Given the description of an element on the screen output the (x, y) to click on. 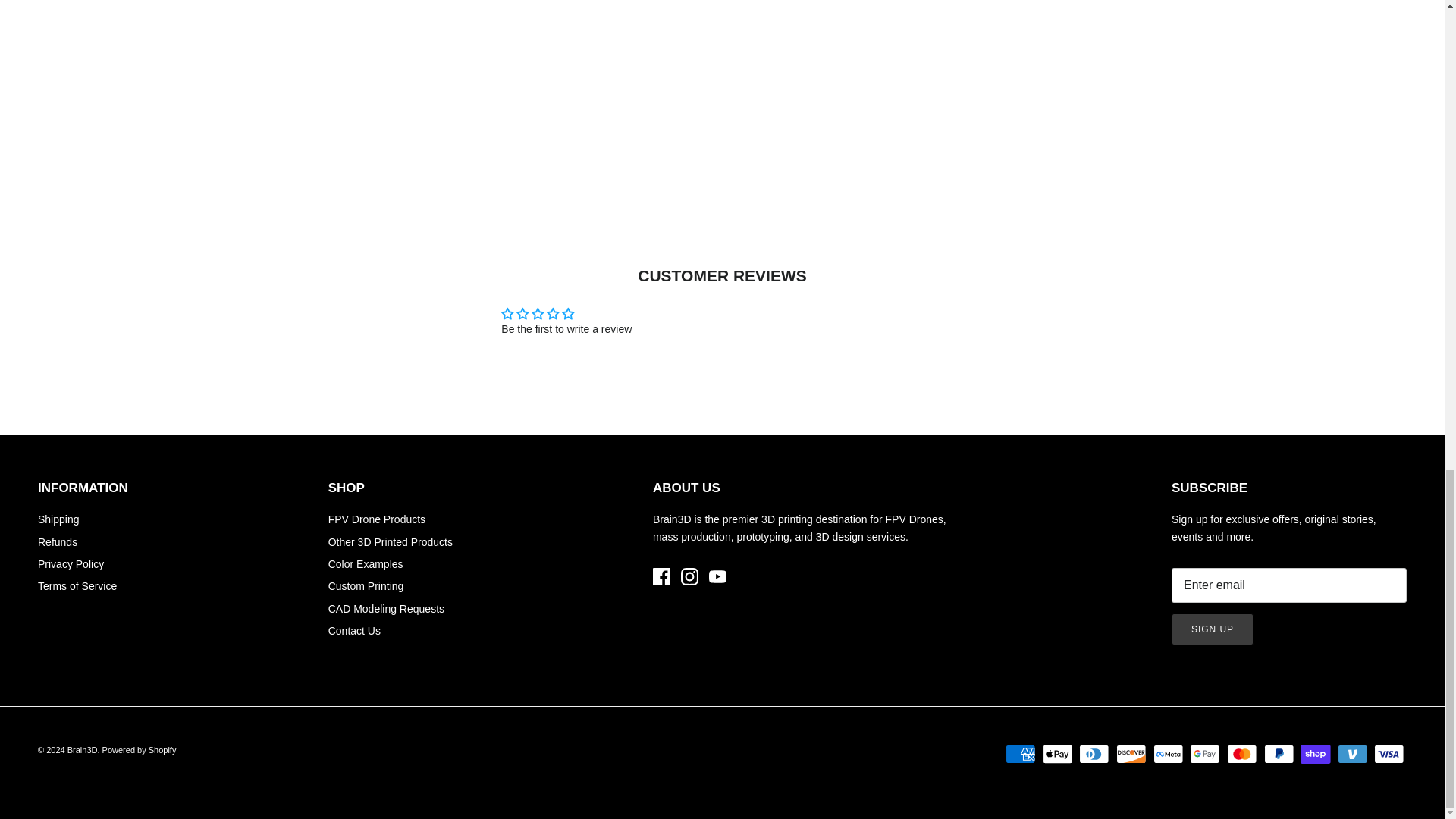
Discover (1130, 753)
Meta Pay (1168, 753)
Apple Pay (1057, 753)
American Express (1020, 753)
Facebook (660, 576)
Diners Club (1093, 753)
Youtube (717, 576)
Instagram (689, 576)
